Given the description of an element on the screen output the (x, y) to click on. 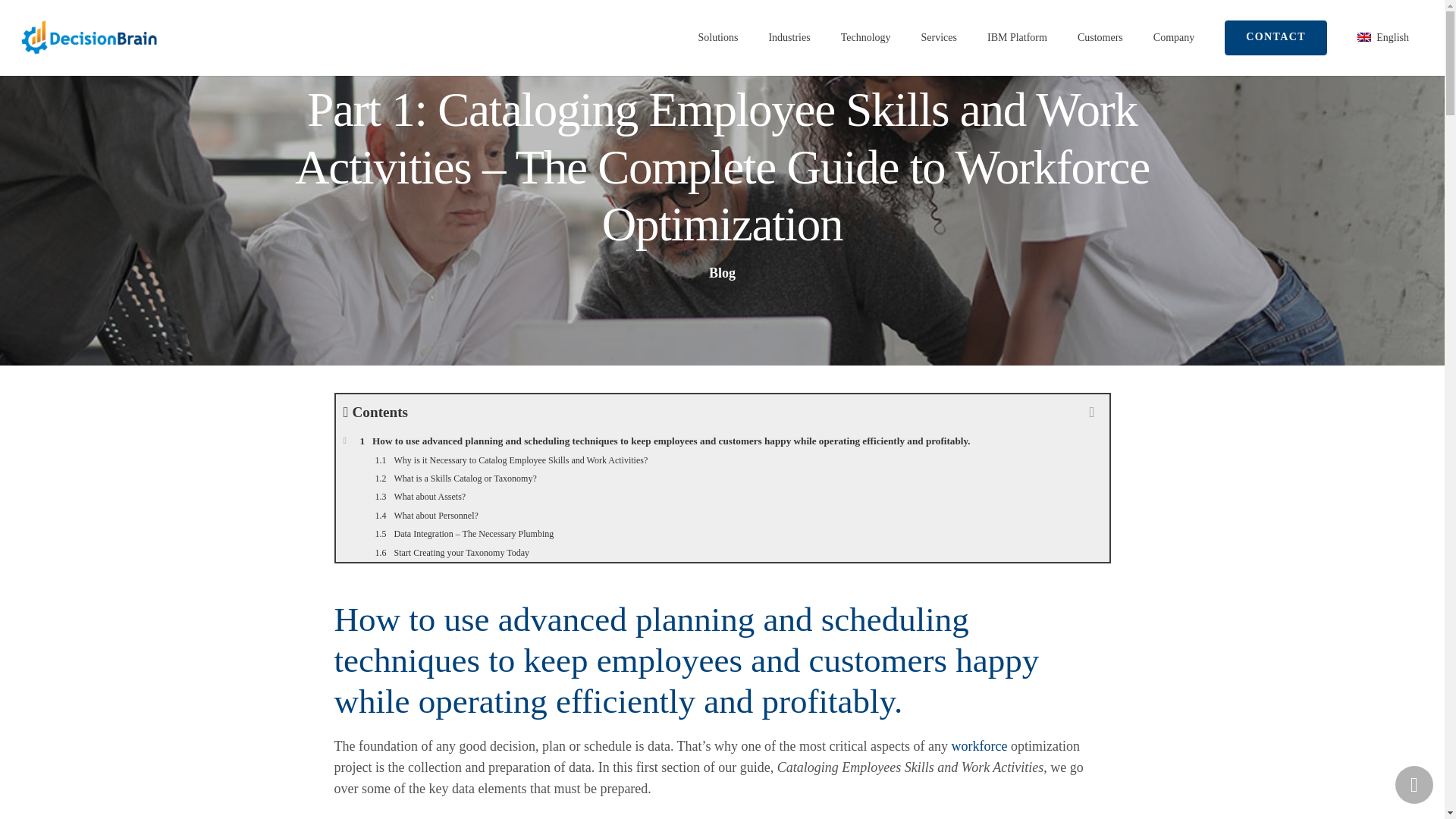
English (1382, 38)
CONTACT (1275, 37)
Customers (1100, 38)
IBM Platform (1017, 38)
Company (1173, 38)
English (1382, 38)
Industries (788, 38)
Technology (865, 38)
Solutions (717, 38)
Back to top (1413, 784)
